Given the description of an element on the screen output the (x, y) to click on. 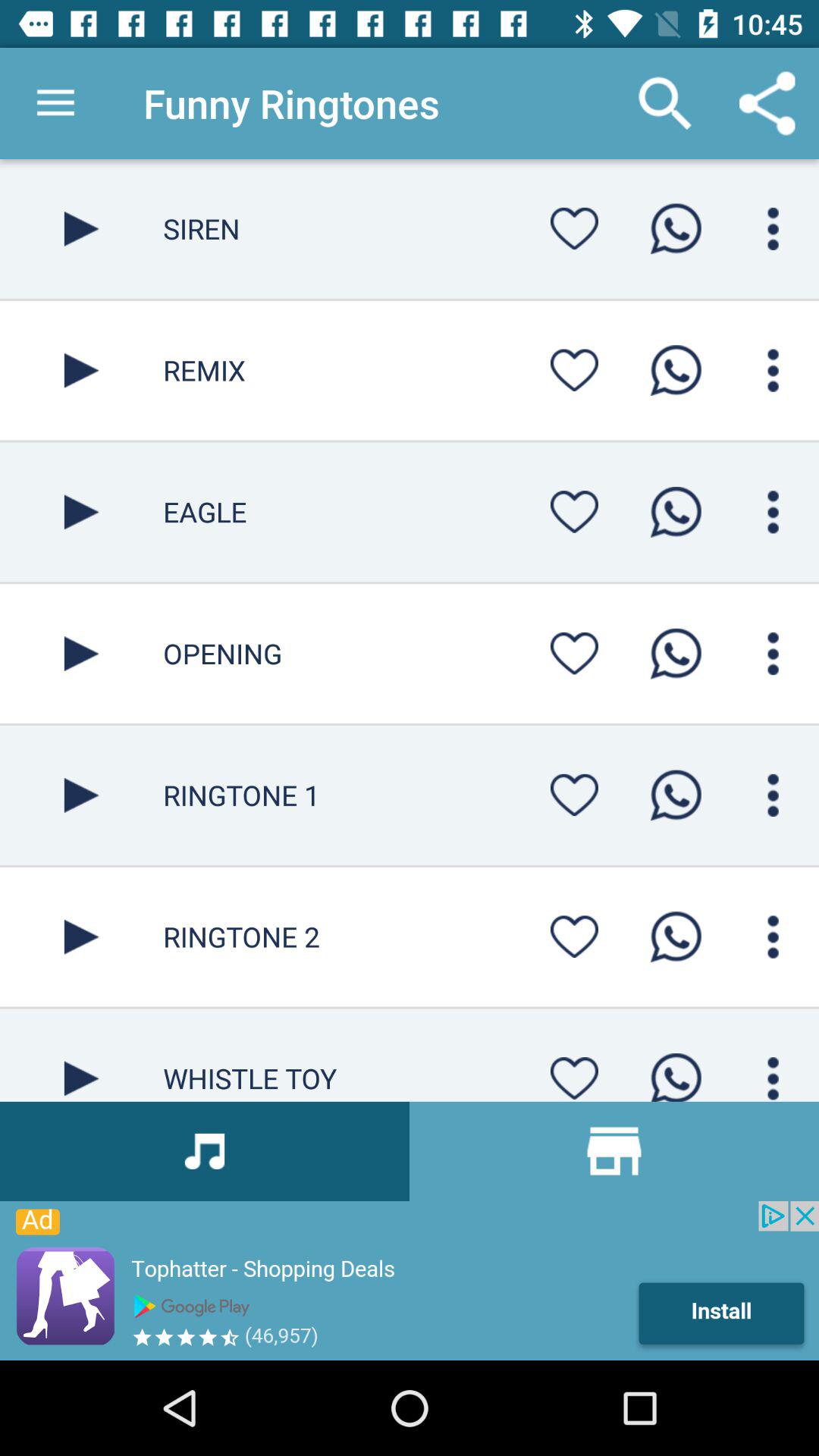
advertisement page (409, 1280)
